Given the description of an element on the screen output the (x, y) to click on. 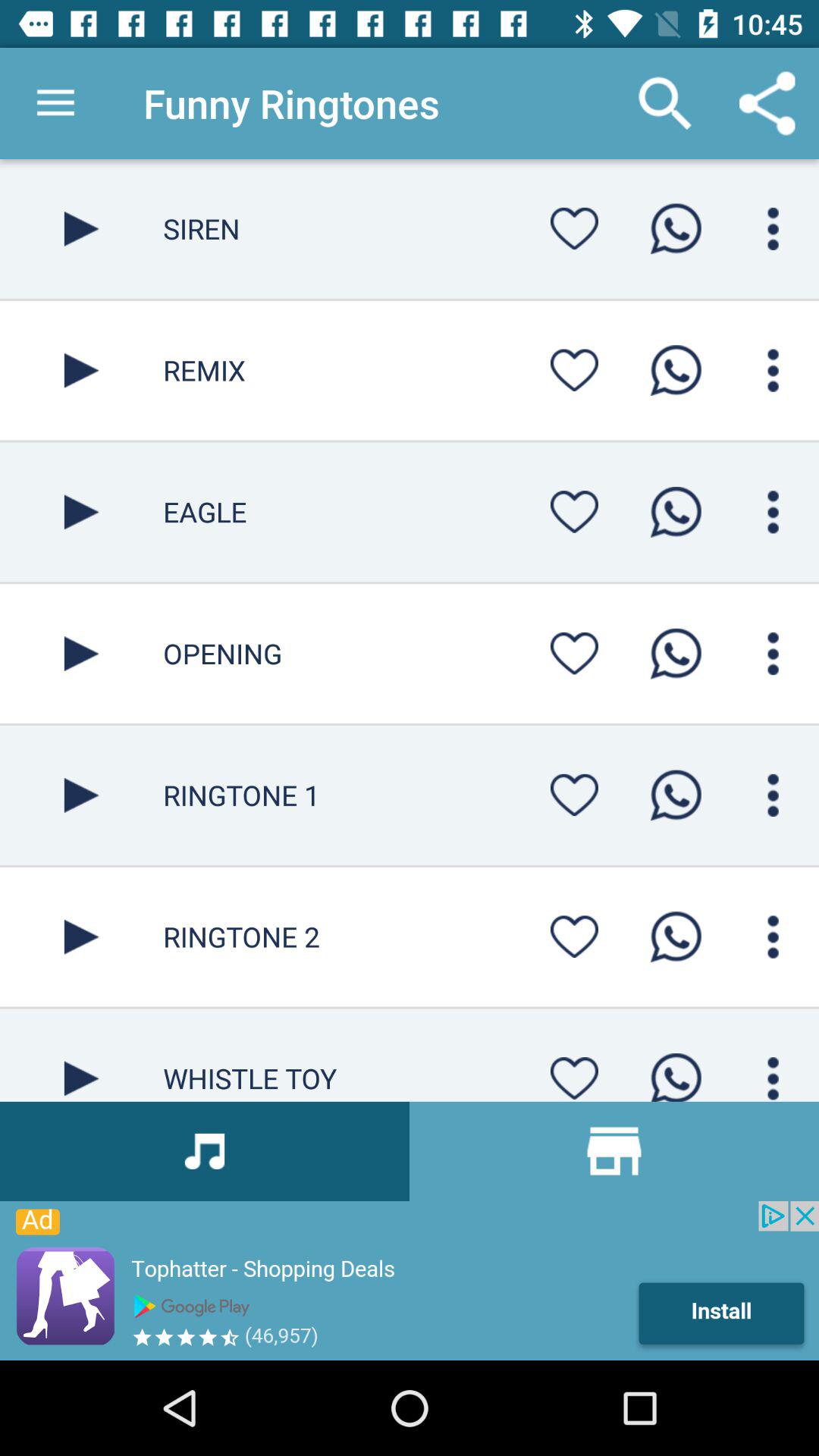
advertisement page (409, 1280)
